Given the description of an element on the screen output the (x, y) to click on. 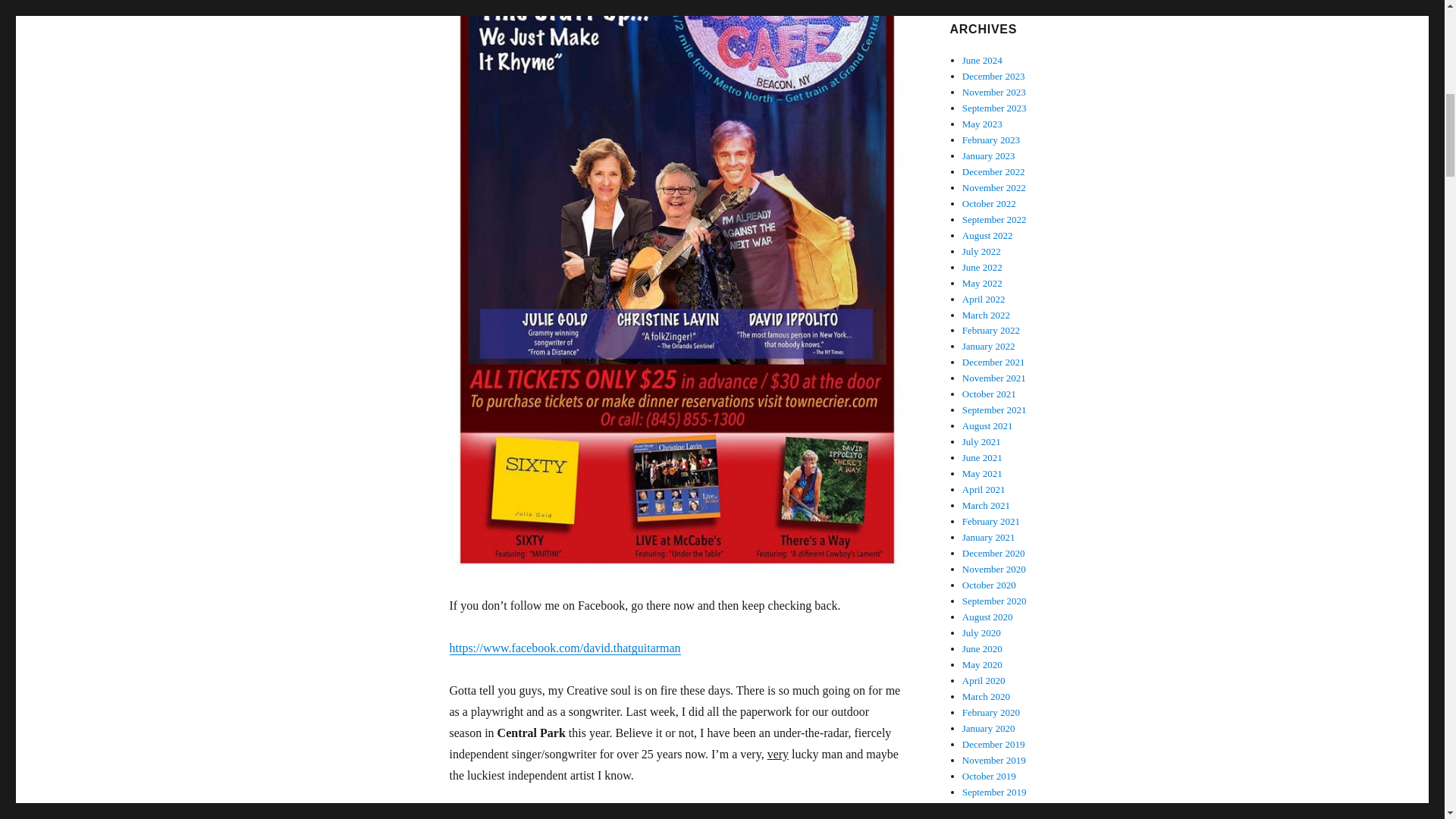
November 2023 (994, 91)
November 2021 (994, 378)
June 2022 (982, 266)
September 2022 (994, 219)
December 2022 (993, 171)
February 2022 (991, 329)
March 2022 (986, 315)
September 2023 (994, 107)
May 2022 (982, 283)
January 2022 (988, 346)
February 2023 (991, 139)
December 2021 (993, 361)
December 2023 (993, 75)
July 2022 (981, 251)
January 2023 (988, 155)
